Given the description of an element on the screen output the (x, y) to click on. 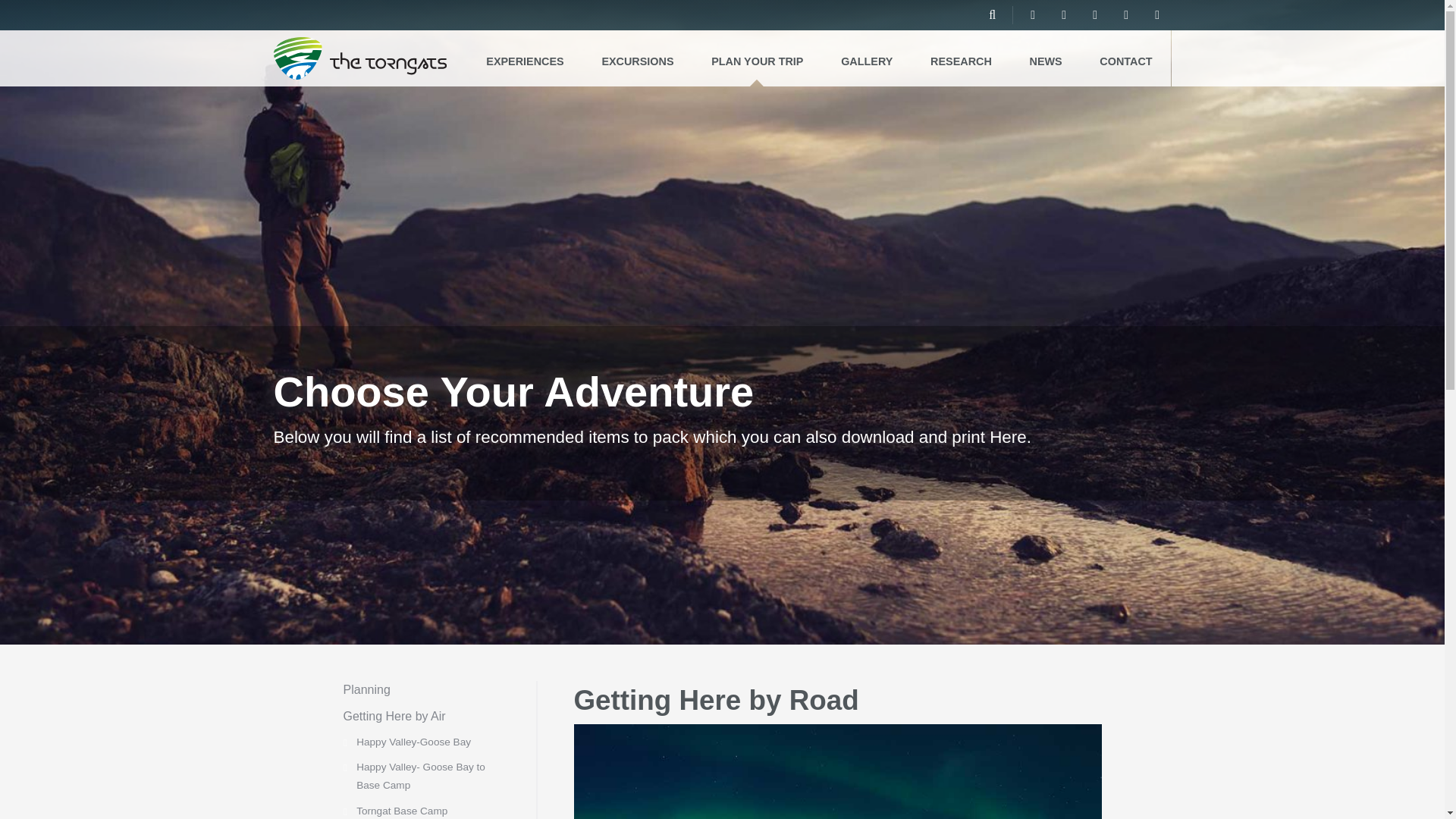
PLAN YOUR TRIP (757, 58)
EXCURSIONS (638, 58)
Planning (366, 689)
WaterWerks Agency (727, 799)
Torngat Base Camp (401, 810)
EXPERIENCES (524, 58)
Happy Valley-Goose Bay (413, 741)
RESEARCH (960, 58)
GALLERY (866, 58)
Happy Valley- Goose Bay to Base Camp (420, 776)
Getting Here by Air (393, 716)
CONTACT (1126, 58)
NEWS (1045, 58)
